Given the description of an element on the screen output the (x, y) to click on. 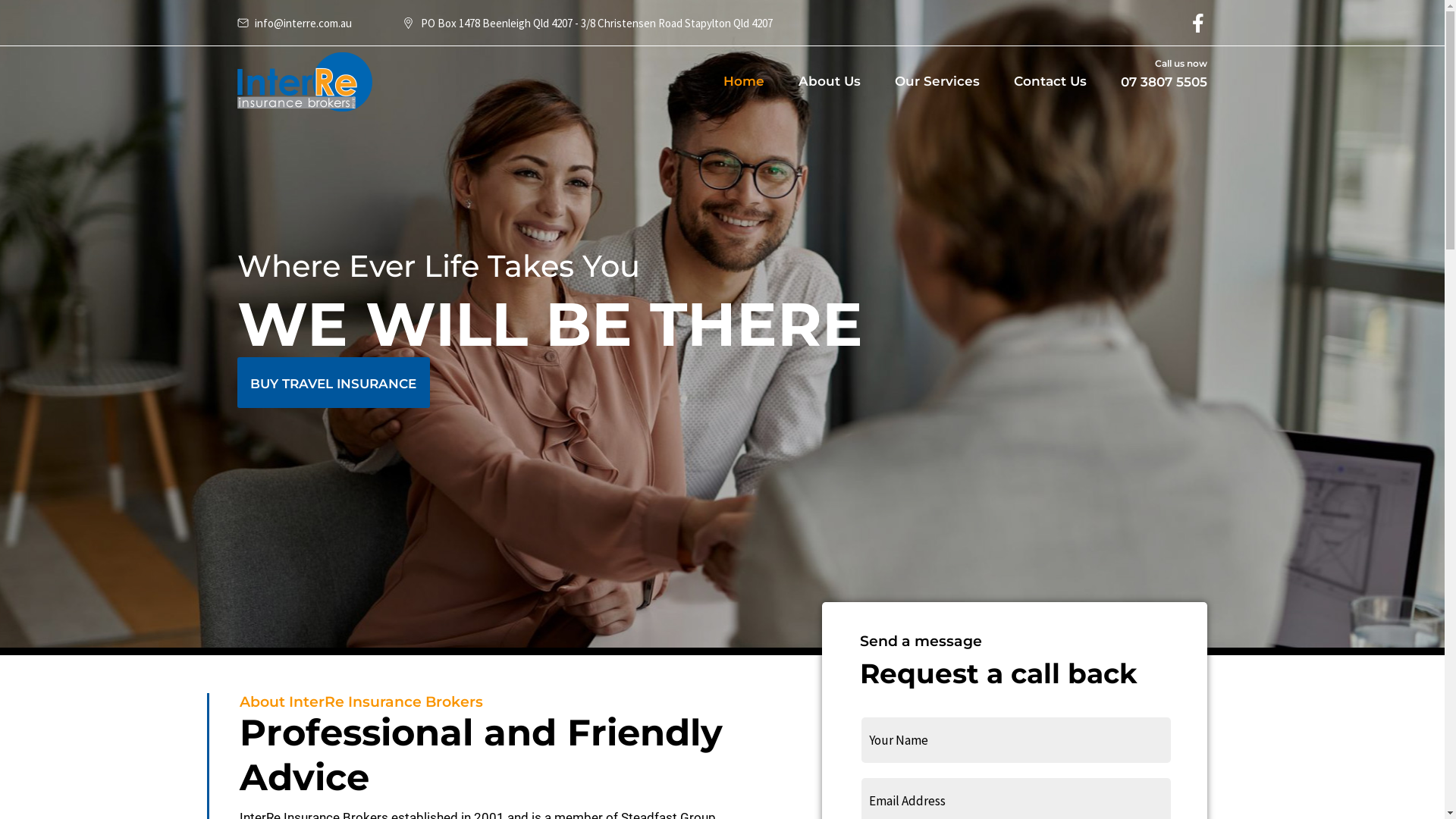
Home Element type: text (743, 81)
About Us Element type: text (829, 81)
BUY TRAVEL INSURANCE Element type: text (332, 381)
Contact Us Element type: text (1049, 81)
Our Services Element type: text (936, 81)
info@interre.com.au Element type: text (293, 22)
Call us now
07 3807 5505 Element type: text (1163, 79)
